Given the description of an element on the screen output the (x, y) to click on. 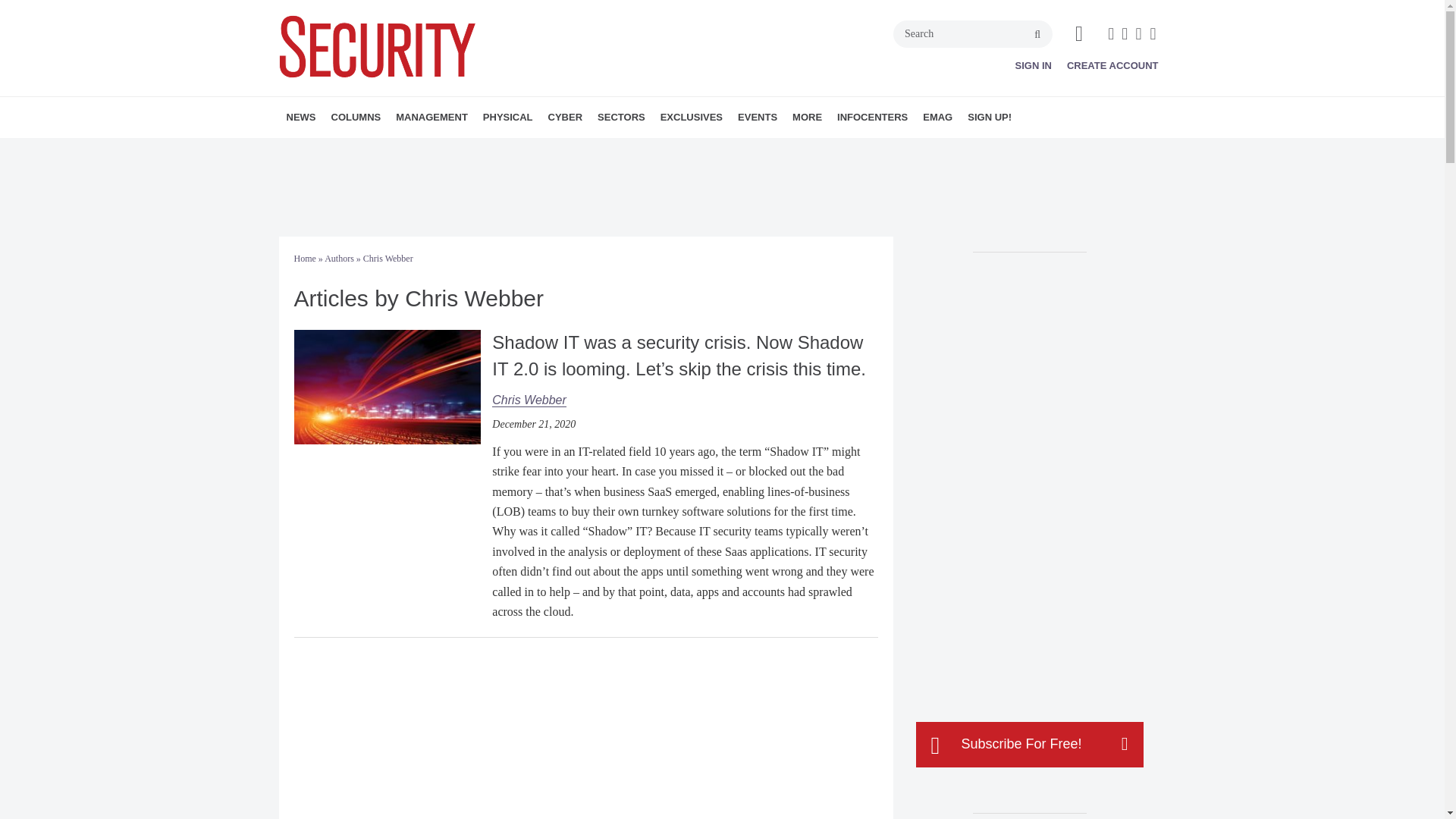
Search (972, 33)
Search (972, 33)
The Long and Winding Road to Cyber Recovery (387, 387)
